Given the description of an element on the screen output the (x, y) to click on. 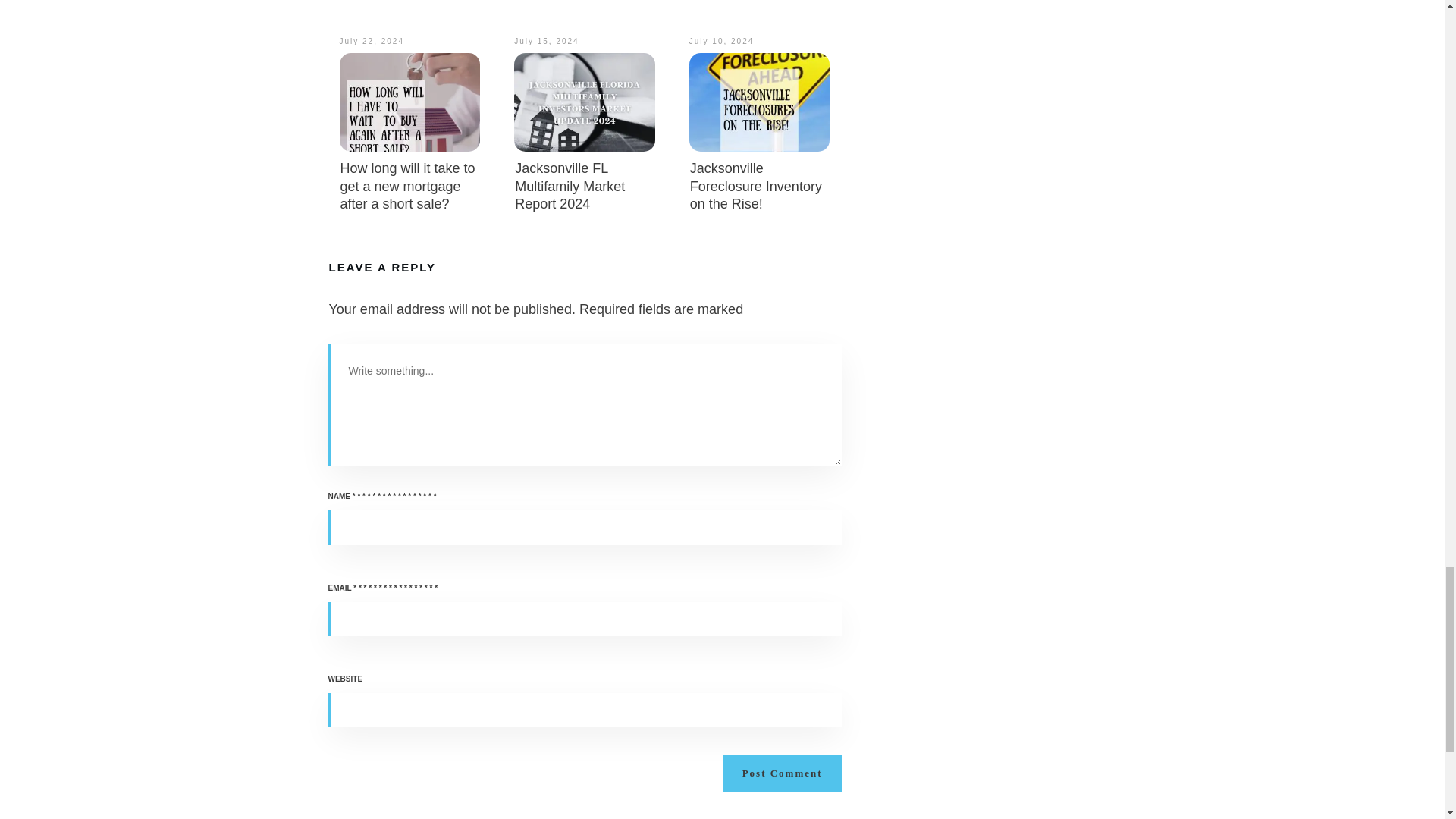
Jacksonville FL Multifamily Market Report 2024 (569, 185)
Post Comment (782, 773)
Jacksonville Foreclosure Inventory on the Rise! (756, 185)
Jacksonville Foreclosure Inventory on the Rise! (756, 185)
Jacksonville FL Multifamily Market Report 2024 (569, 185)
